Given the description of an element on the screen output the (x, y) to click on. 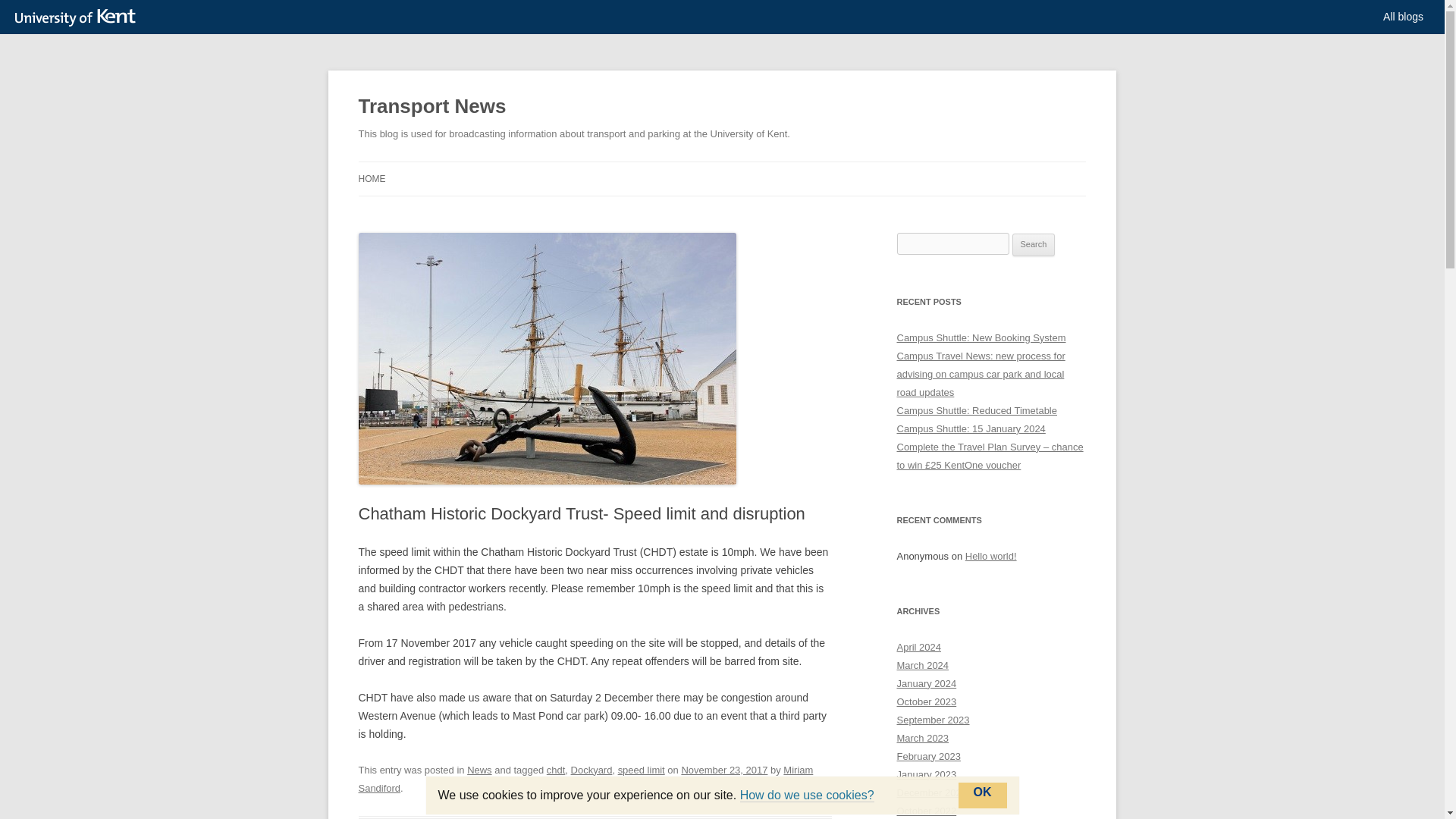
January 2023 (926, 774)
March 2023 (922, 737)
Miriam Sandiford (585, 778)
Search (1033, 244)
speed limit (641, 769)
Campus Shuttle: New Booking System (980, 337)
News (479, 769)
November 23, 2017 (724, 769)
October 2023 (926, 701)
Transport News (431, 106)
OK (982, 795)
2:22 pm (724, 769)
January 2024 (926, 683)
chdt (556, 769)
